Given the description of an element on the screen output the (x, y) to click on. 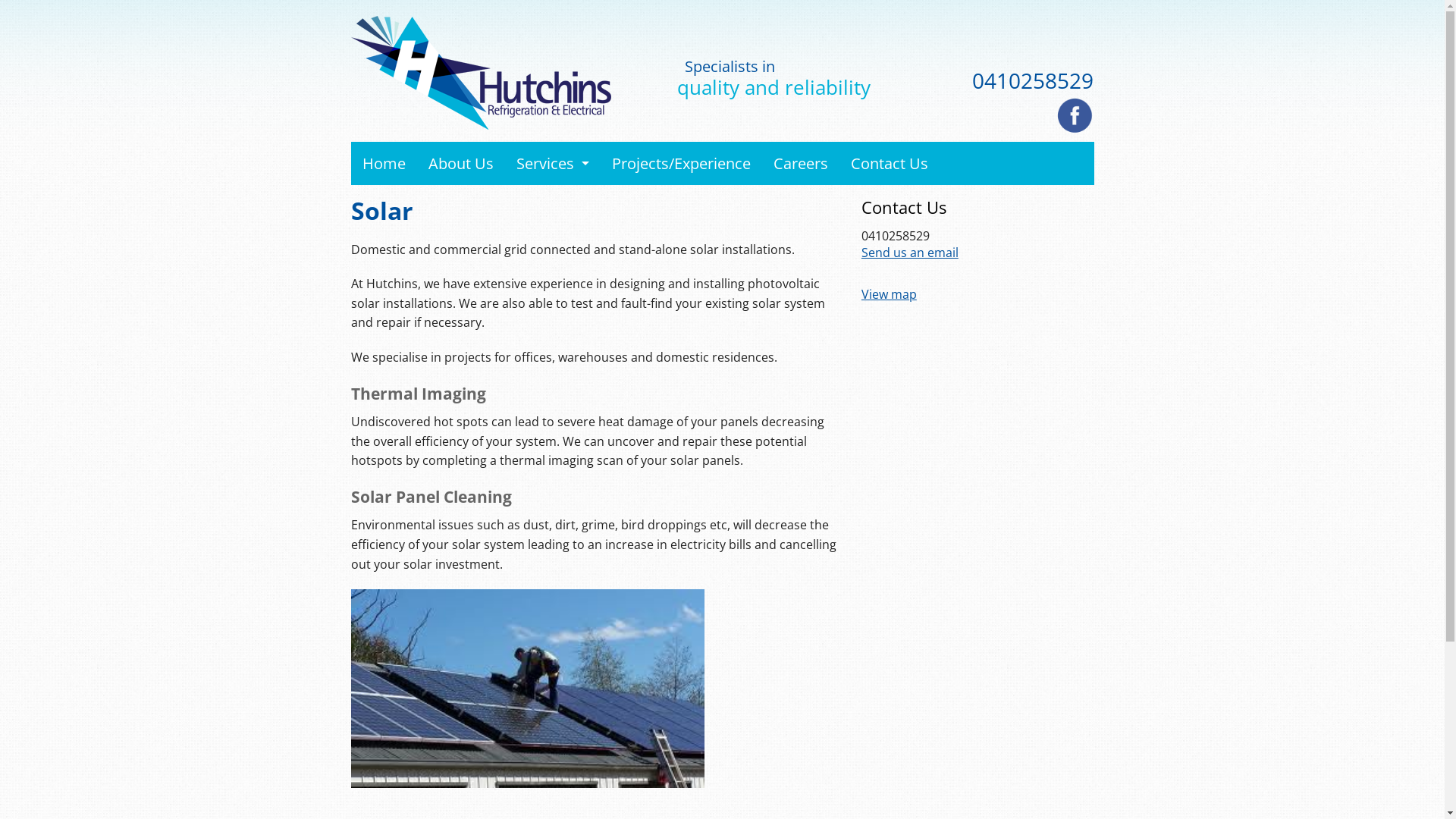
Services Element type: text (552, 163)
Hutchins Refrigeration & Electrical Element type: hover (498, 72)
Contact Us Element type: text (888, 163)
Home Element type: text (383, 163)
Careers Element type: text (799, 163)
Solar Element type: text (381, 210)
Projects/Experience Element type: text (681, 163)
View map Element type: text (888, 293)
About Us Element type: text (461, 163)
Send us an email Element type: text (909, 252)
